Given the description of an element on the screen output the (x, y) to click on. 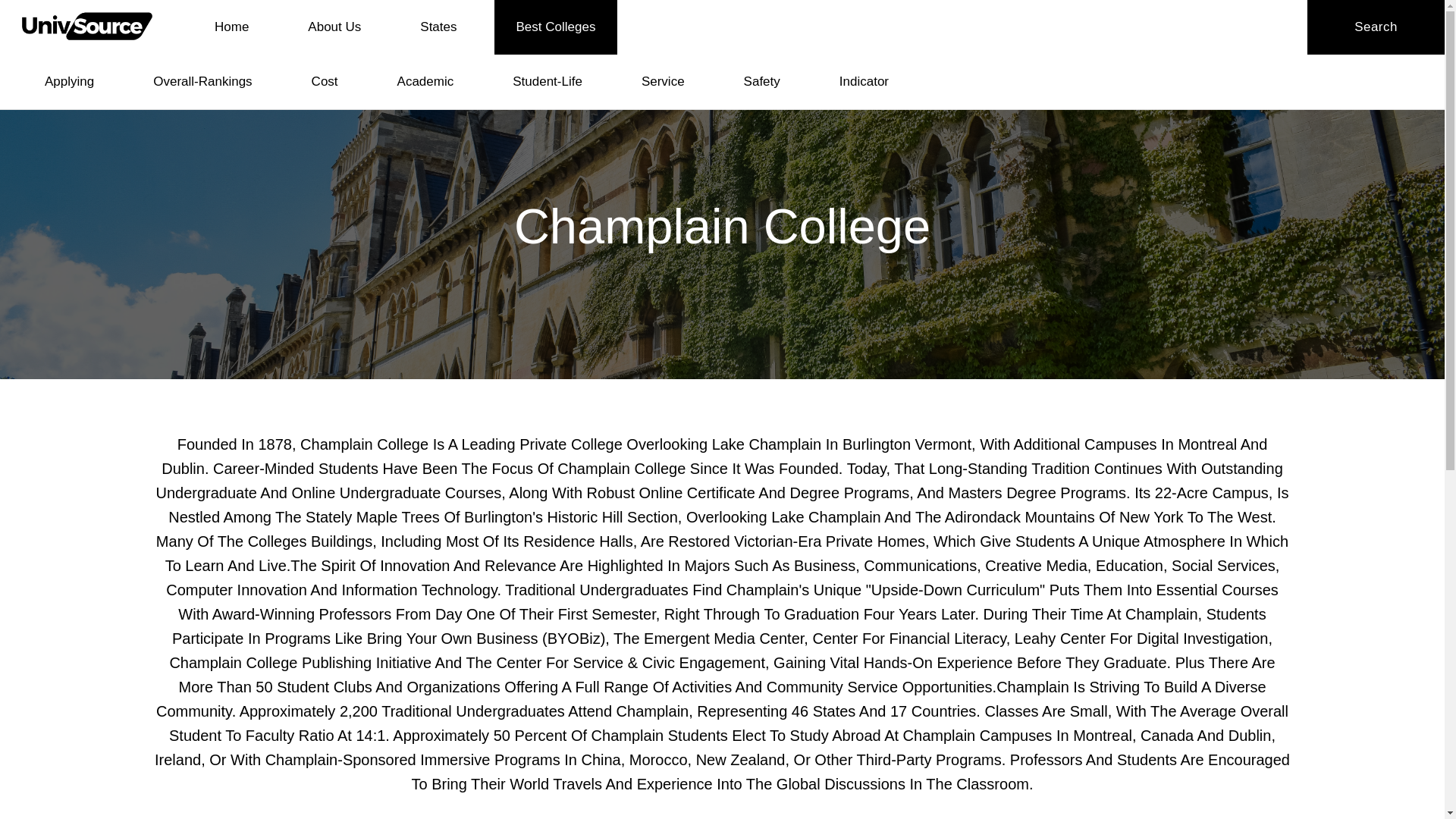
Safety (762, 81)
Indicator (863, 81)
Service (663, 81)
About Us (333, 27)
Student-Life (547, 81)
Applying (69, 81)
Best Colleges (556, 27)
Cost (324, 81)
States (438, 27)
Home (231, 27)
Academic (425, 81)
Overall-Rankings (202, 81)
